Given the description of an element on the screen output the (x, y) to click on. 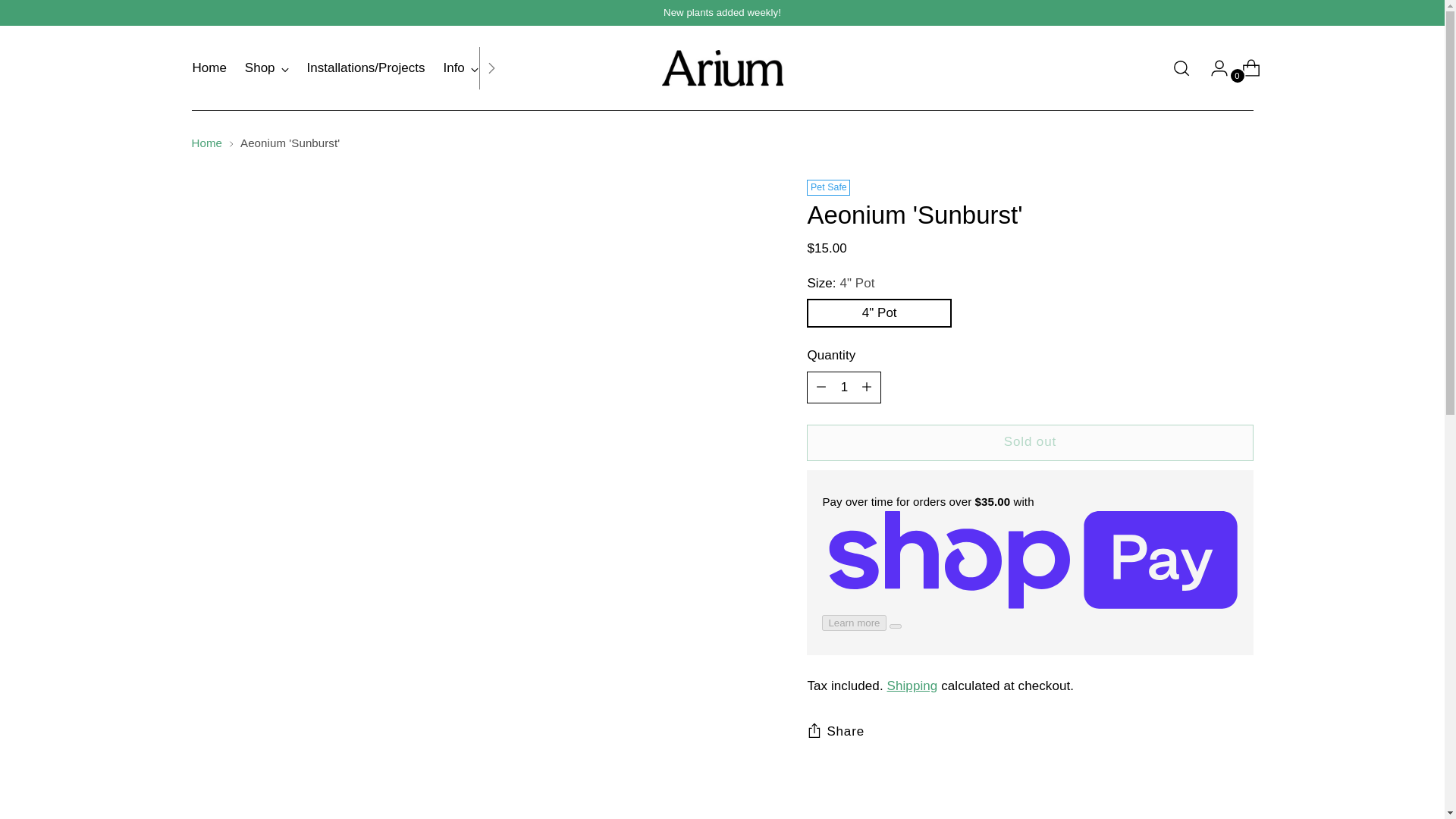
New plants added weekly! (721, 12)
Info (459, 68)
Home (209, 68)
0 (1245, 68)
Shop (266, 68)
1 (843, 387)
